Given the description of an element on the screen output the (x, y) to click on. 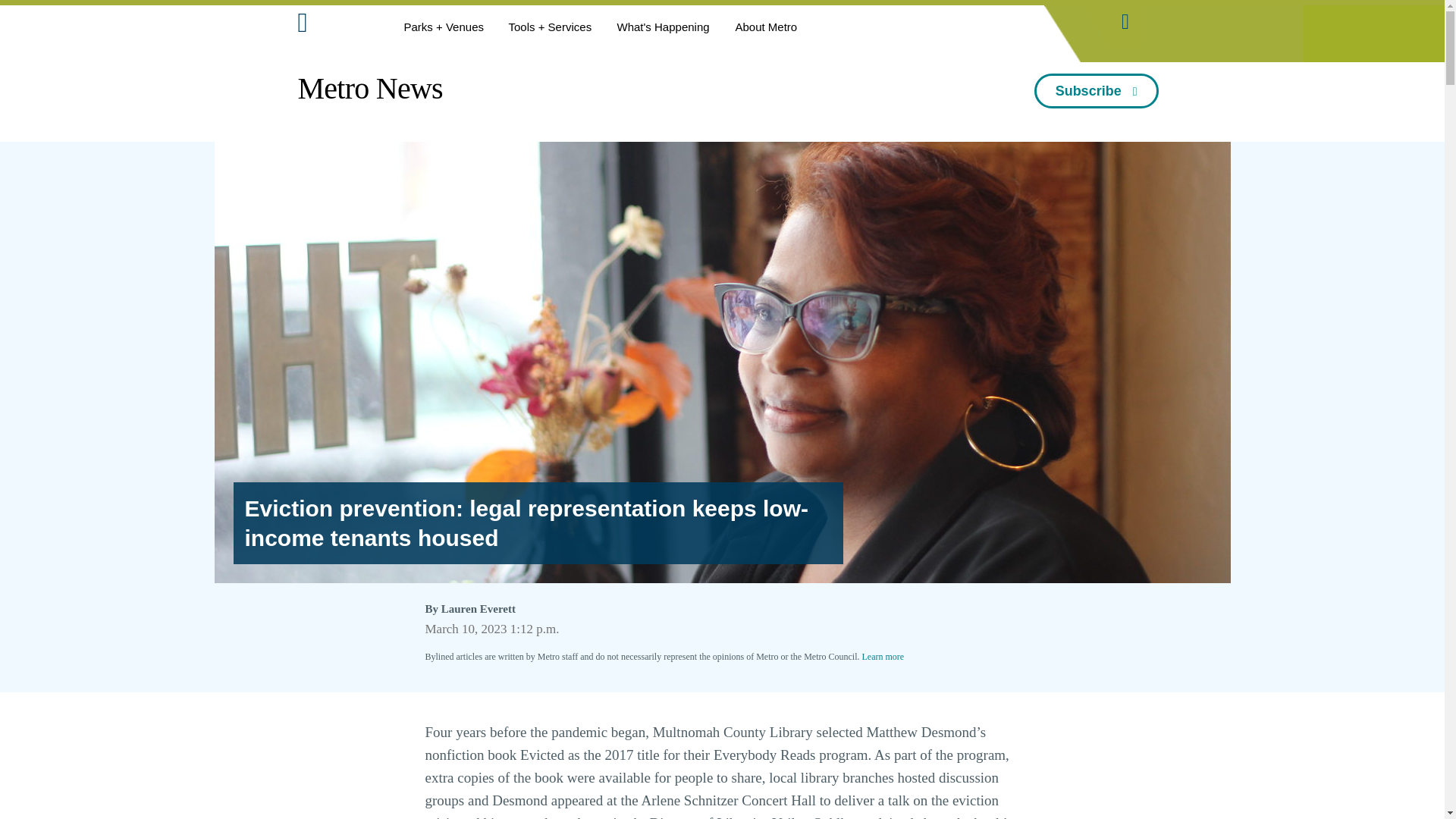
Metro (335, 25)
